Given the description of an element on the screen output the (x, y) to click on. 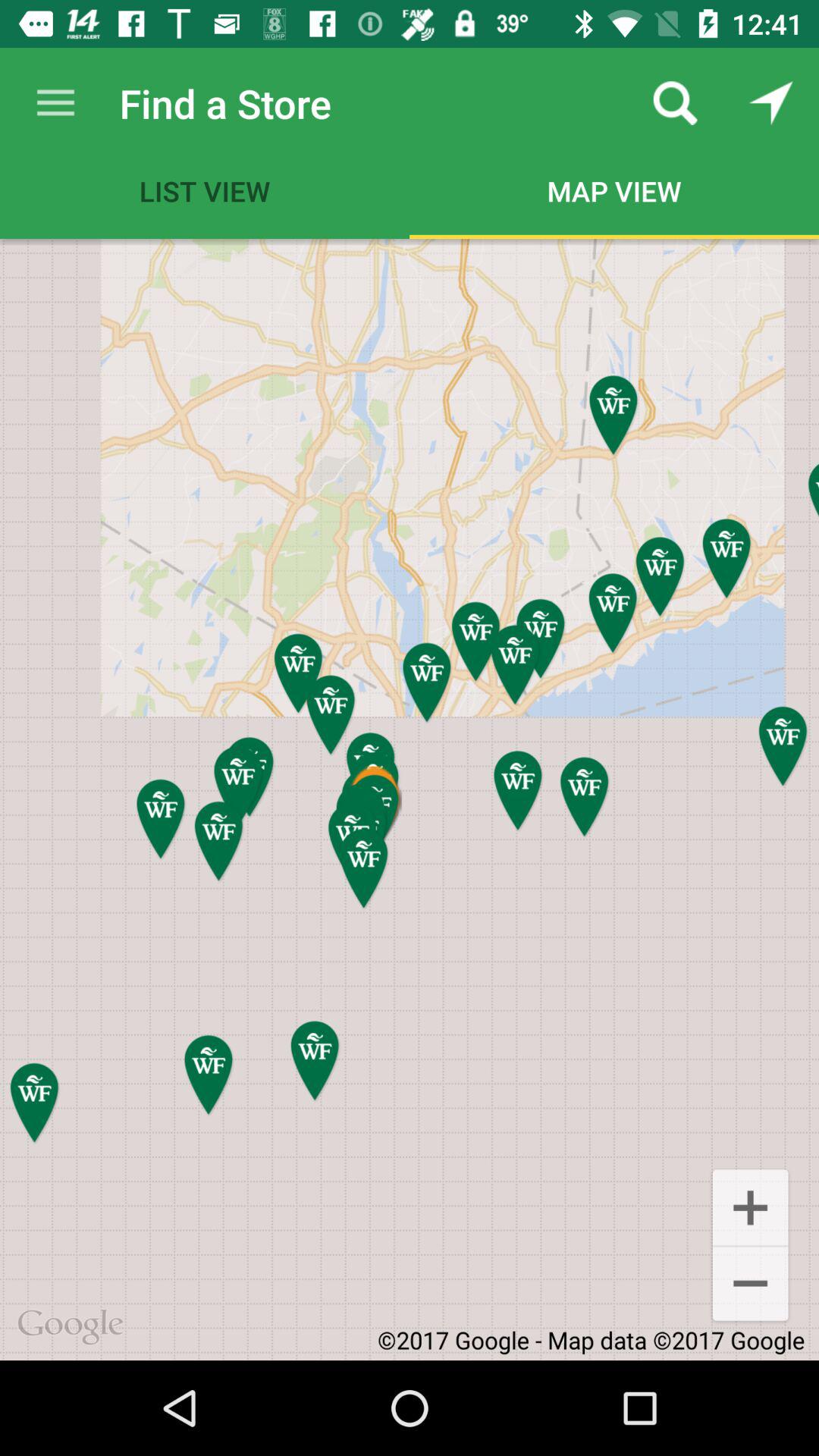
select the icon above the map view (675, 103)
